Given the description of an element on the screen output the (x, y) to click on. 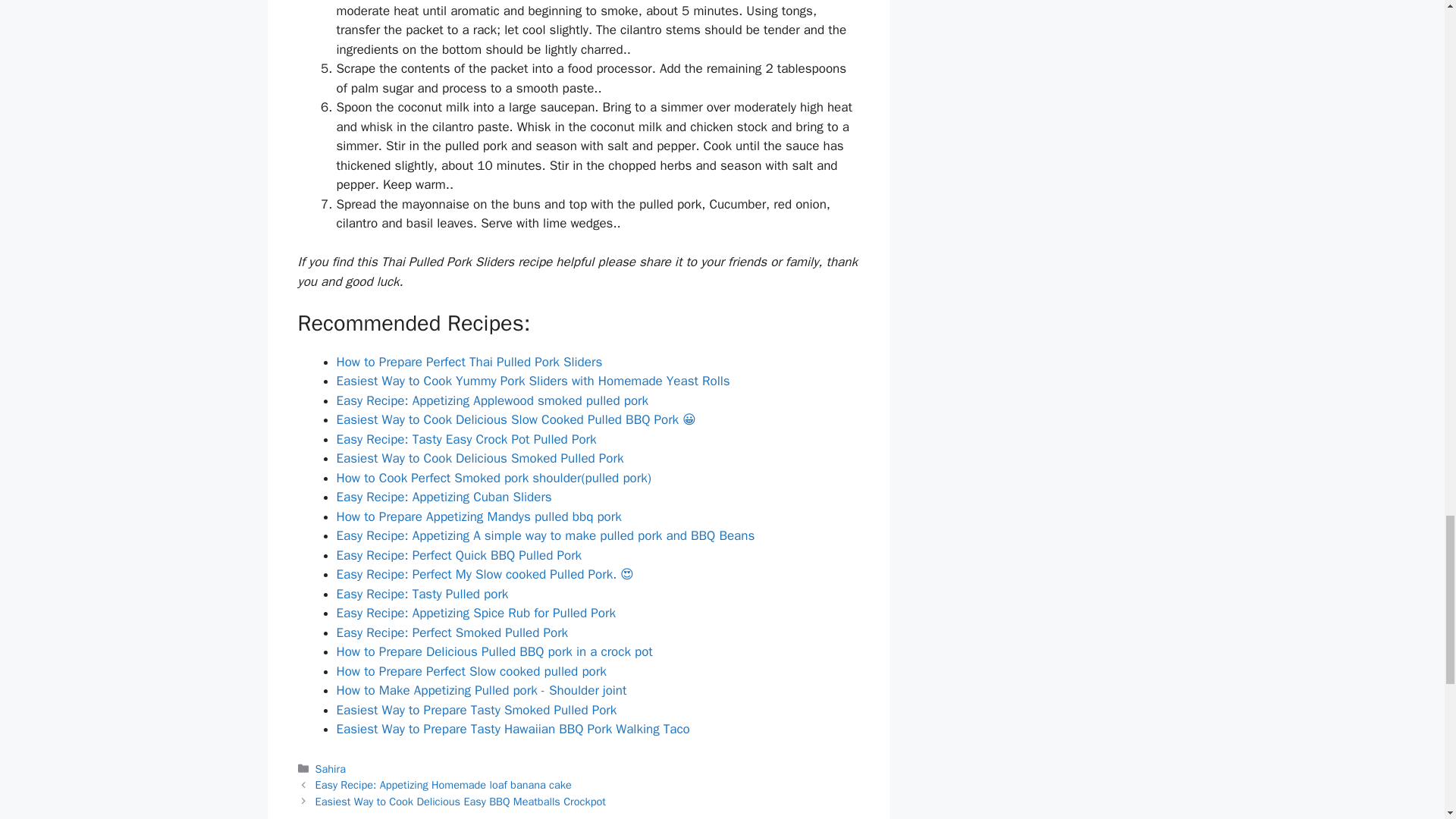
How to Prepare Delicious Pulled BBQ pork in a crock pot (494, 651)
How to Prepare Perfect Thai Pulled Pork Sliders (469, 361)
How to Make Appetizing Pulled pork - Shoulder joint (481, 690)
Easiest Way to Cook Delicious Easy BBQ Meatballs Crockpot (460, 801)
Sahira (330, 768)
Easy Recipe: Perfect Quick BBQ Pulled Pork (459, 555)
Easy Recipe: Appetizing Homemade loaf banana cake (443, 784)
Easy Recipe: Tasty Pulled pork (422, 593)
